Given the description of an element on the screen output the (x, y) to click on. 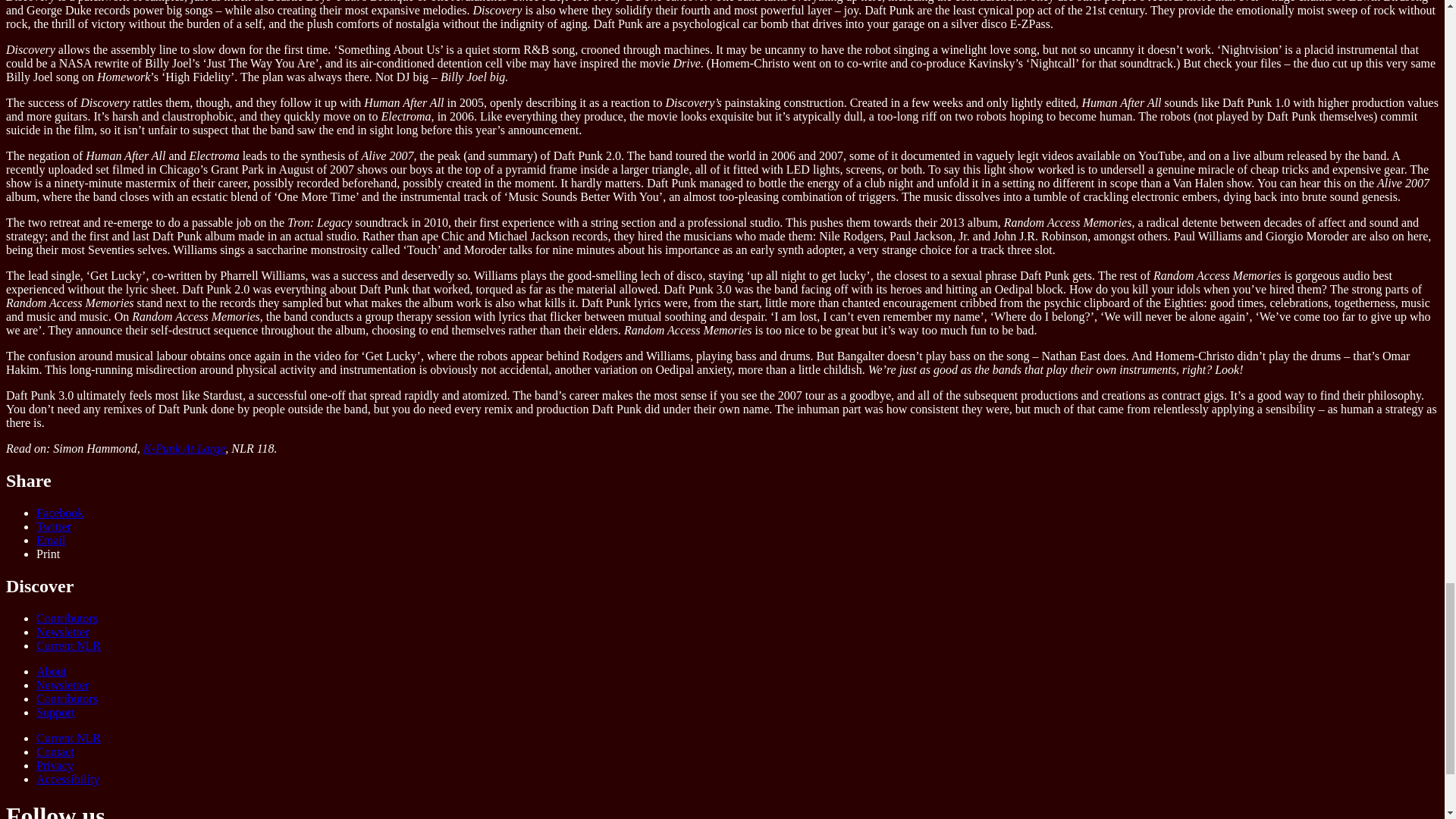
Email (50, 540)
Contact (55, 751)
K-Punk At Large (183, 448)
Contributors (66, 698)
Print (47, 553)
Privacy (55, 765)
Twitter (53, 526)
Current NLR (68, 645)
Current NLR (68, 738)
Support (55, 712)
Newsletter (62, 631)
Accessibility (68, 779)
About (51, 671)
Contributors (66, 617)
Facebook (59, 512)
